Given the description of an element on the screen output the (x, y) to click on. 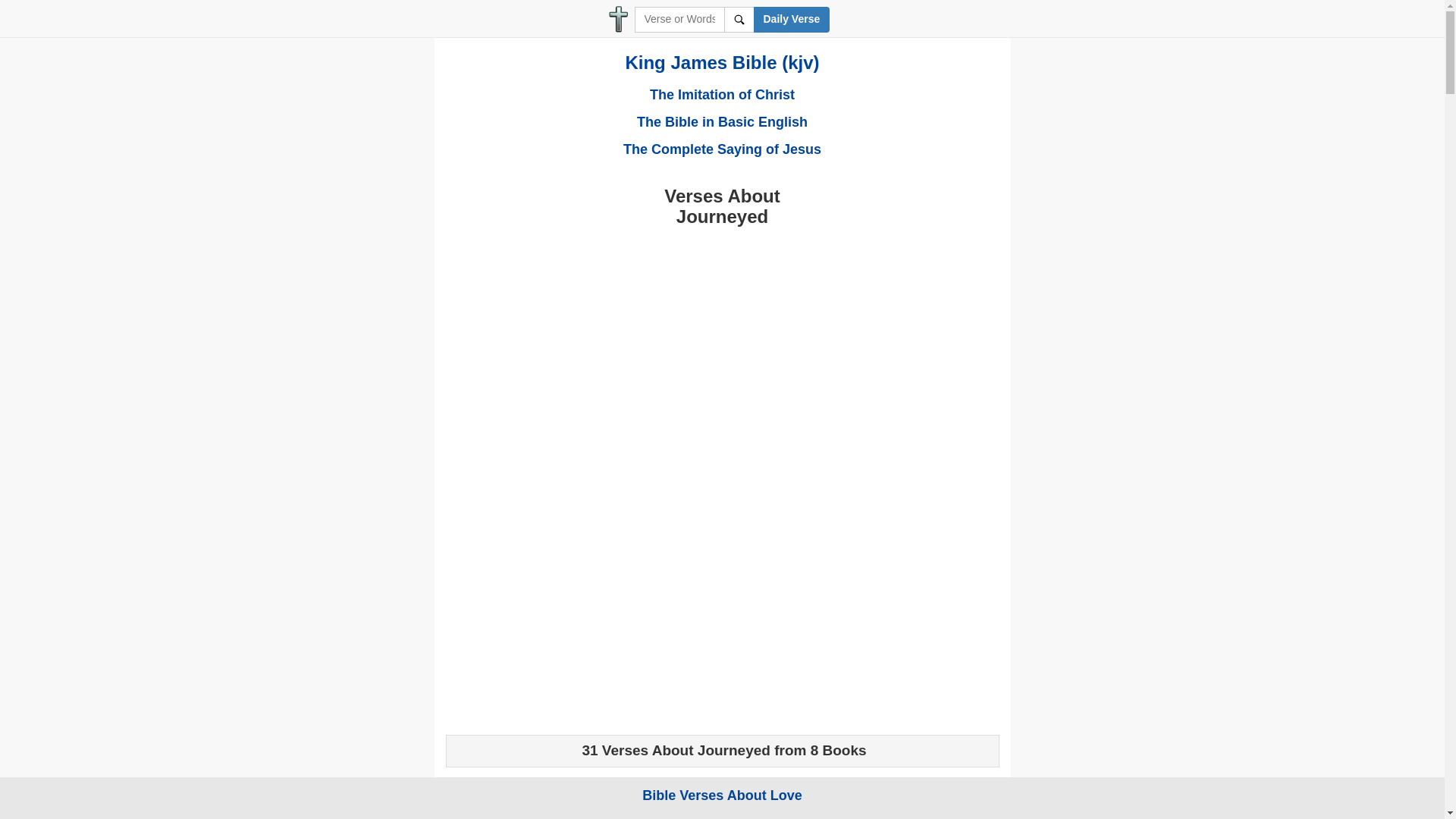
The Bible in Basic English (722, 121)
The Complete Saying of Jesus (722, 149)
Genesis 11:2 (491, 798)
The Imitation of Christ (721, 94)
Daily Verse (791, 19)
search (738, 19)
